Given the description of an element on the screen output the (x, y) to click on. 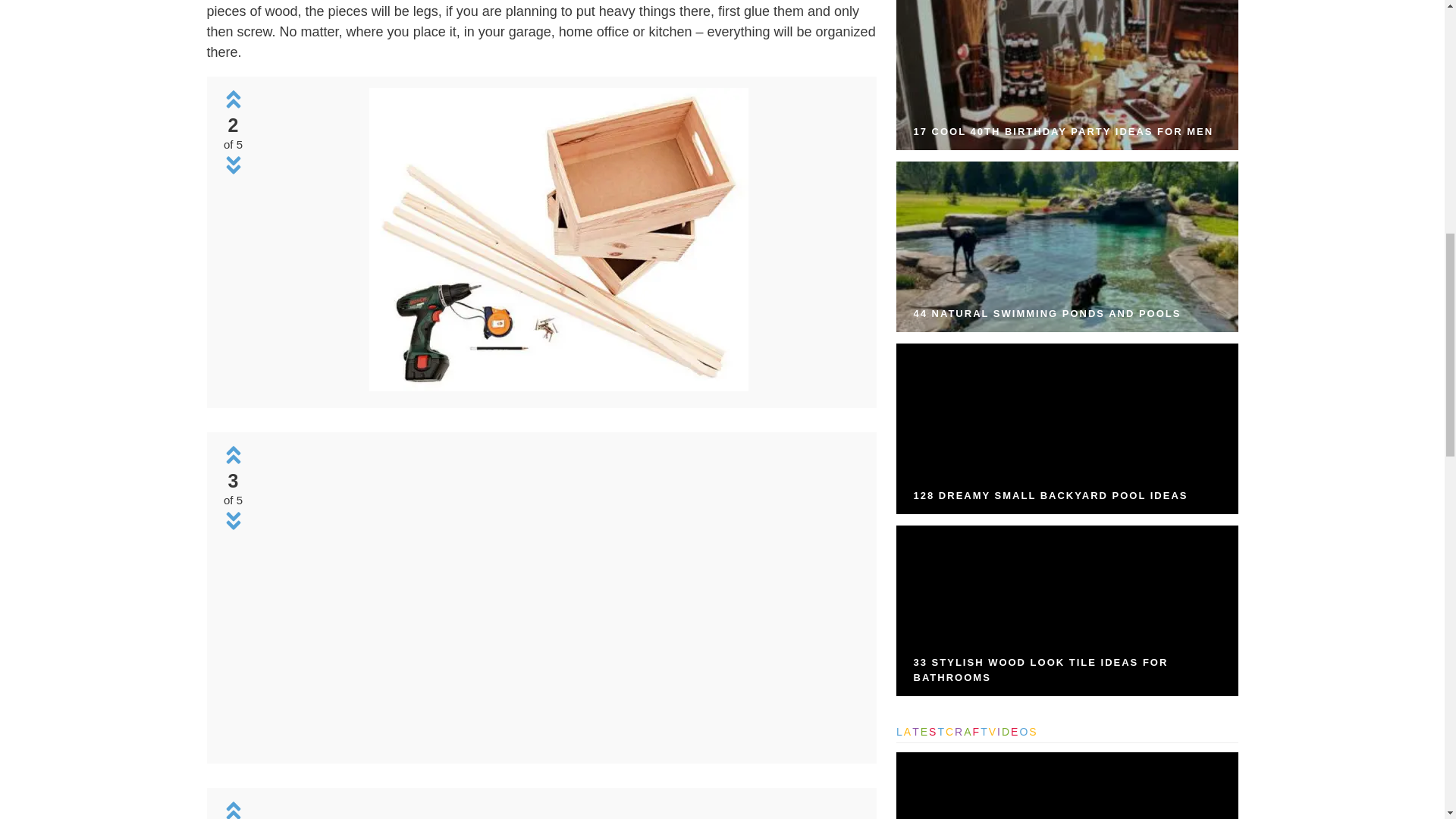
Diy Drawers For Organizing Any Space (558, 386)
Diy Drawers For Organizing Any Space (558, 809)
Diy Drawers For Organizing Any Space (558, 594)
Diy Drawers For Organizing Any Space (558, 239)
Diy Drawers For Organizing Any Space (558, 742)
